Given the description of an element on the screen output the (x, y) to click on. 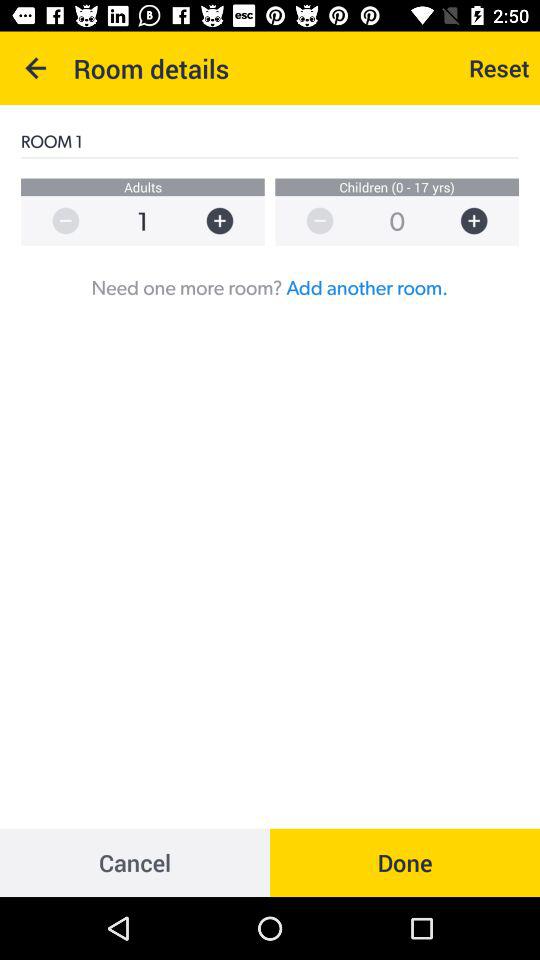
remove one child (310, 220)
